Given the description of an element on the screen output the (x, y) to click on. 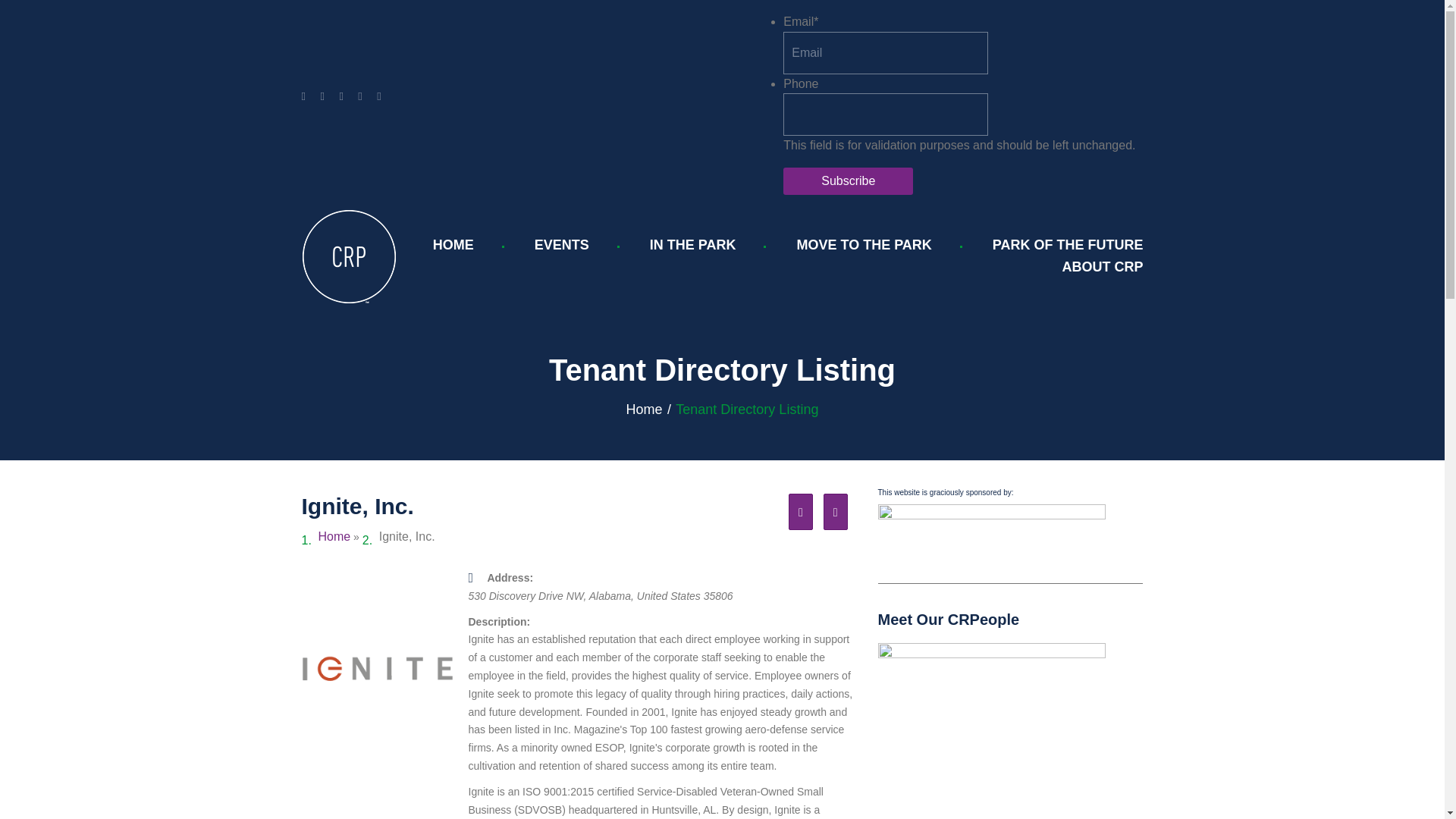
EVENTS (561, 245)
Subscribe (847, 180)
HOME (453, 245)
ABOUT CRP (1101, 267)
Home (334, 535)
Home (644, 409)
Home (644, 409)
MOVE TO THE PARK (863, 245)
PARK OF THE FUTURE (1067, 245)
Subscribe (847, 180)
IN THE PARK (692, 245)
